Given the description of an element on the screen output the (x, y) to click on. 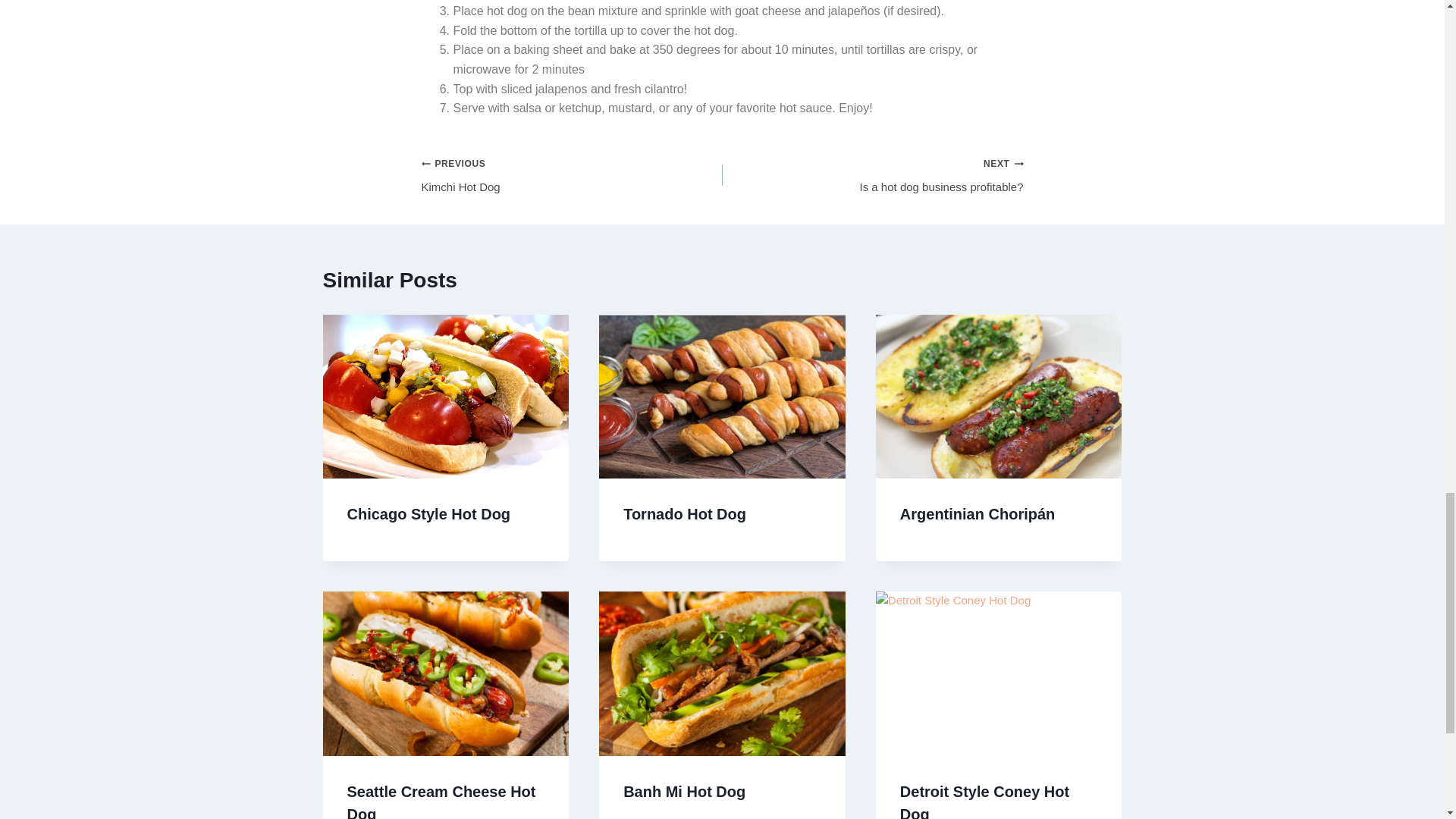
Seattle Cream Cheese Hot Dog (441, 800)
Chicago Style Hot Dog (872, 174)
Detroit Style Coney Hot Dog (572, 174)
Banh Mi Hot Dog (429, 514)
Tornado Hot Dog (983, 800)
